Given the description of an element on the screen output the (x, y) to click on. 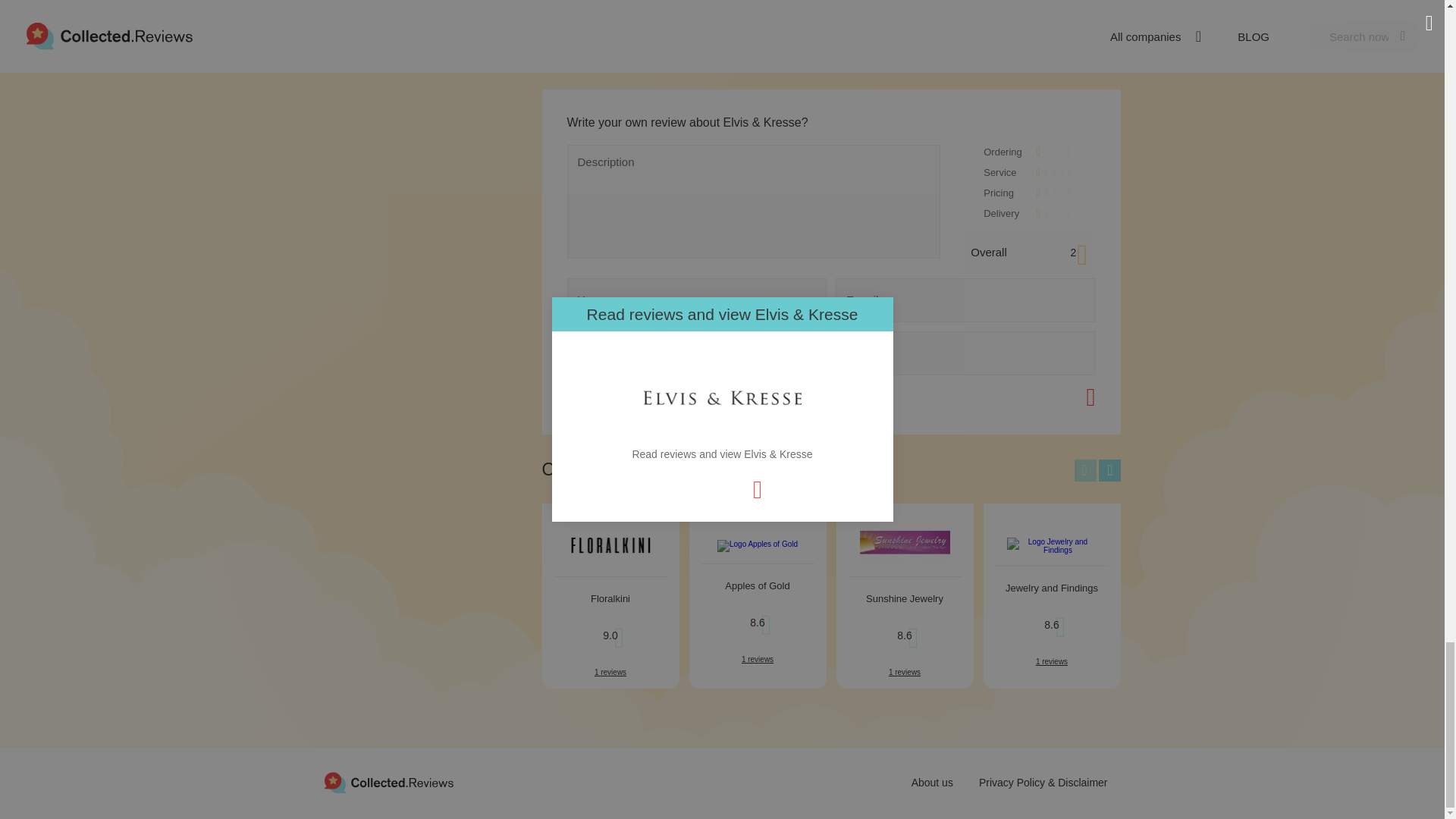
homepage (388, 783)
Group 15 (388, 782)
